Given the description of an element on the screen output the (x, y) to click on. 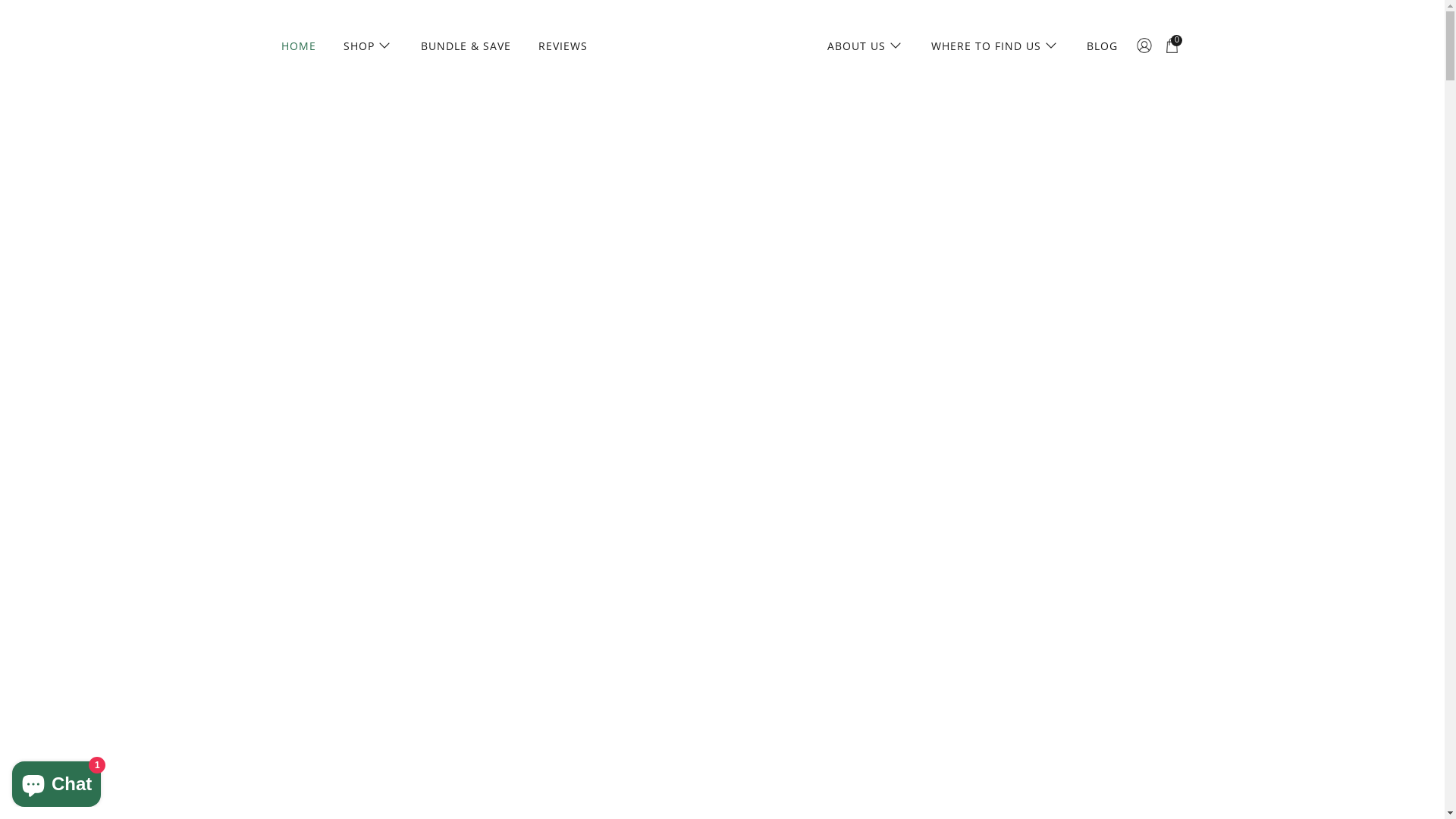
SHOP Element type: text (368, 45)
ABOUT US Element type: text (865, 45)
WHERE TO FIND US Element type: text (994, 45)
0
Cart Element type: text (1173, 45)
Shopify online store chat Element type: hover (56, 780)
REVIEWS Element type: text (563, 45)
HOME Element type: text (299, 45)
BLOG Element type: text (1102, 45)
Holy Sanity  Element type: hover (722, 45)
Login Element type: text (1143, 45)
BUNDLE & SAVE Element type: text (465, 45)
